Given the description of an element on the screen output the (x, y) to click on. 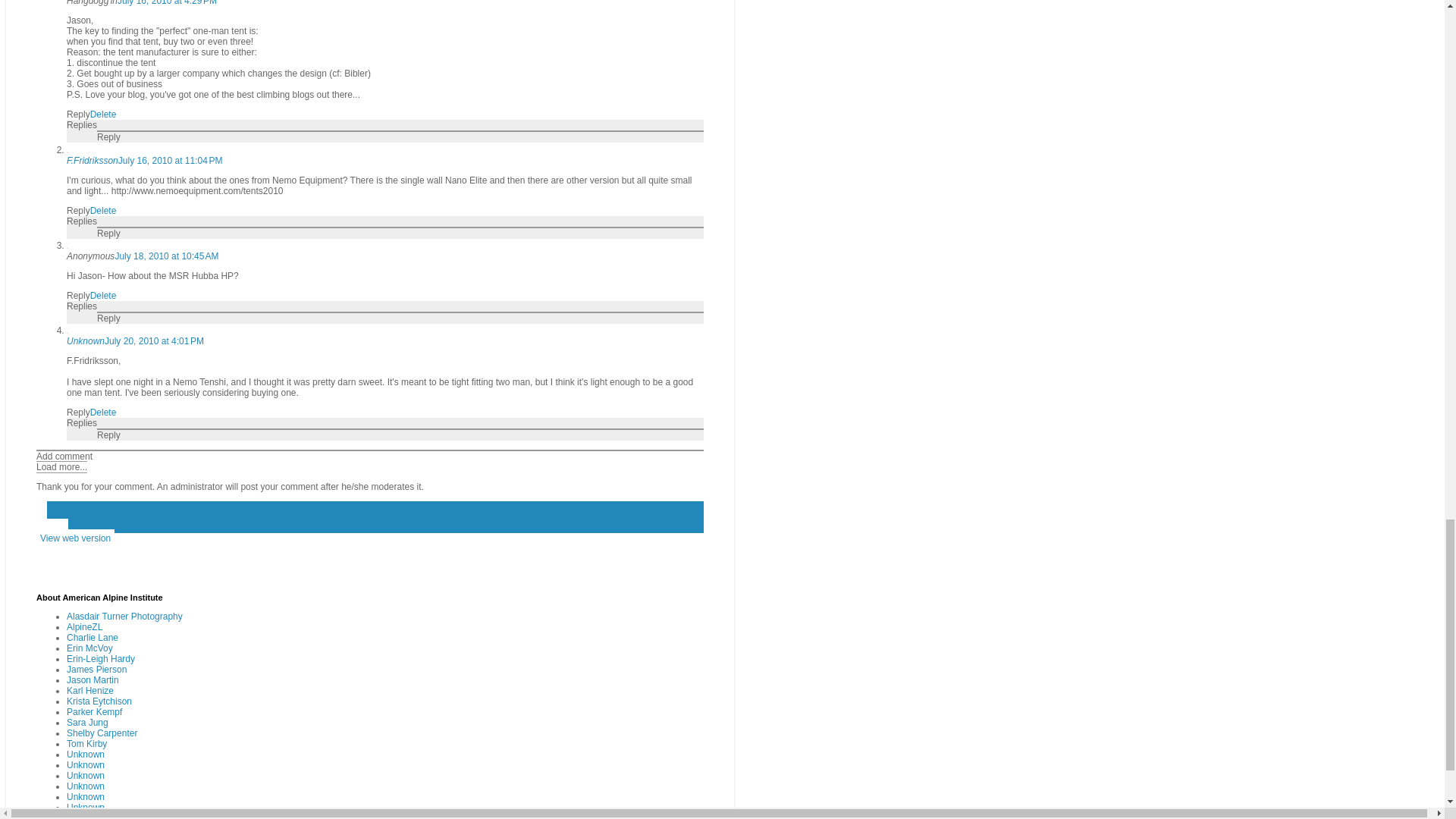
Reply (78, 113)
Delete (103, 295)
Reply (108, 136)
Reply (78, 295)
Replies (81, 124)
Replies (81, 306)
Delete (103, 412)
Newer Post (41, 506)
Reply (108, 233)
Reply (78, 412)
Delete (103, 210)
Unknown (85, 340)
Replies (81, 221)
